Given the description of an element on the screen output the (x, y) to click on. 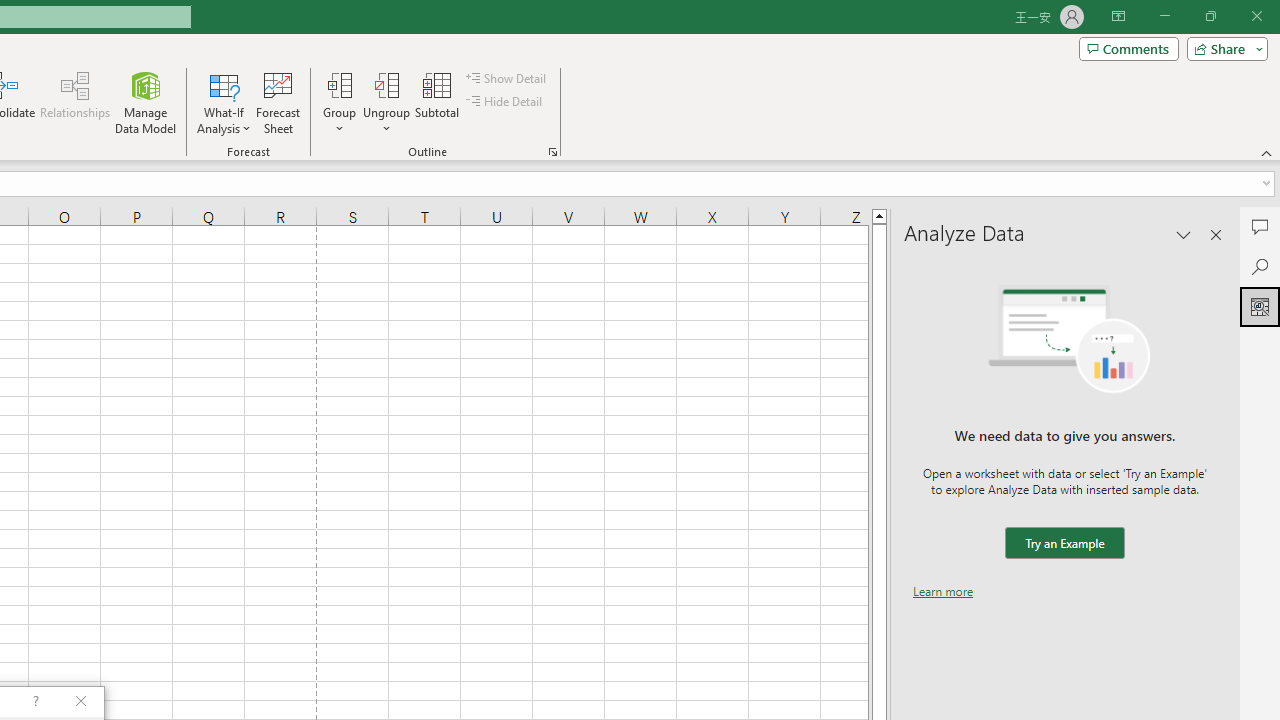
What-If Analysis (223, 102)
Relationships (75, 102)
Manage Data Model (145, 102)
Search (1260, 266)
Show Detail (507, 78)
Forecast Sheet (278, 102)
Hide Detail (505, 101)
